Given the description of an element on the screen output the (x, y) to click on. 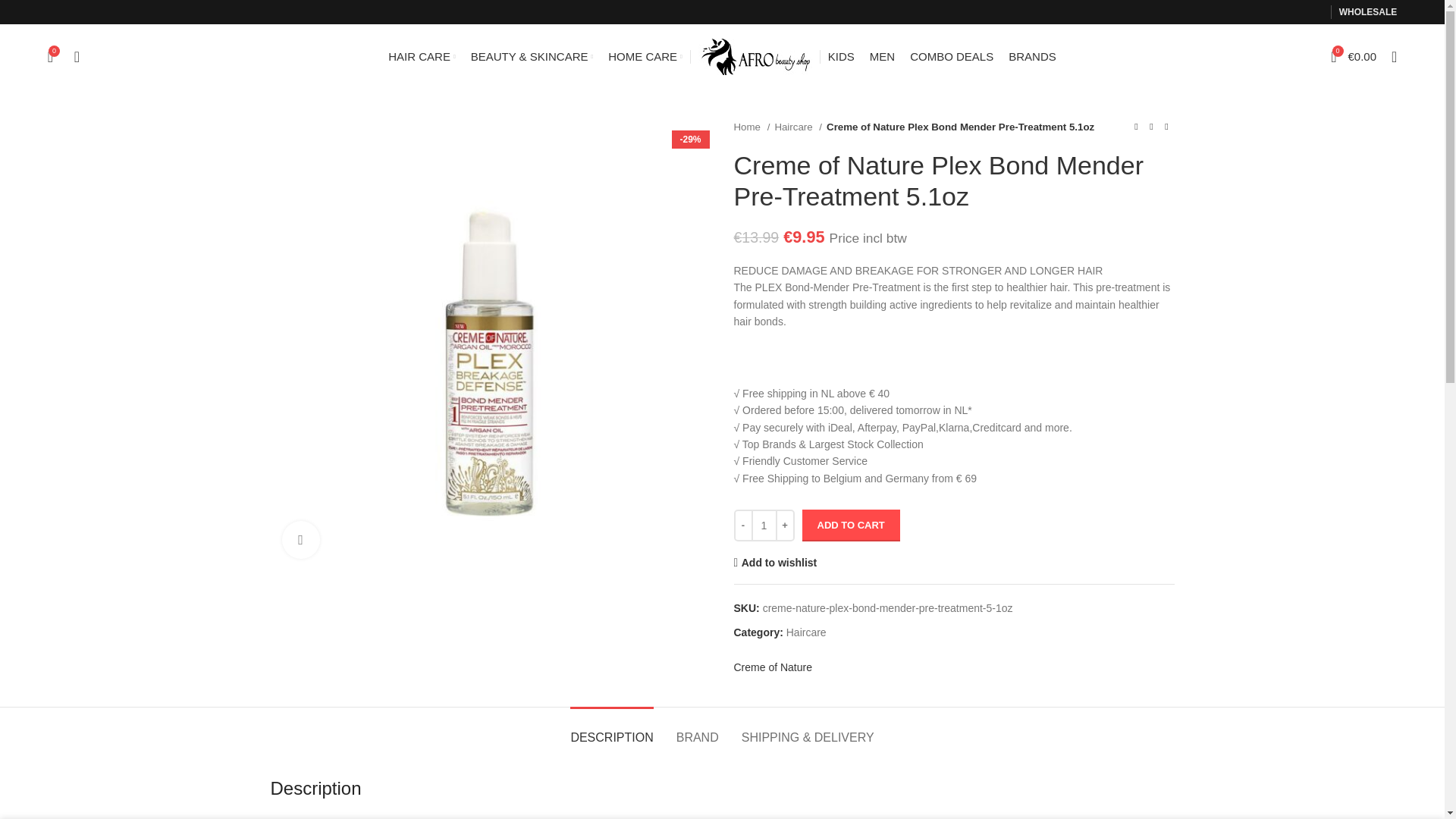
COMBO DEALS (951, 55)
HAIR CARE (421, 55)
BRANDS (1033, 55)
Log in (1271, 297)
WHOLESALE (1368, 11)
Shopping cart (1353, 55)
HOME CARE (645, 55)
View brand (772, 667)
